Given the description of an element on the screen output the (x, y) to click on. 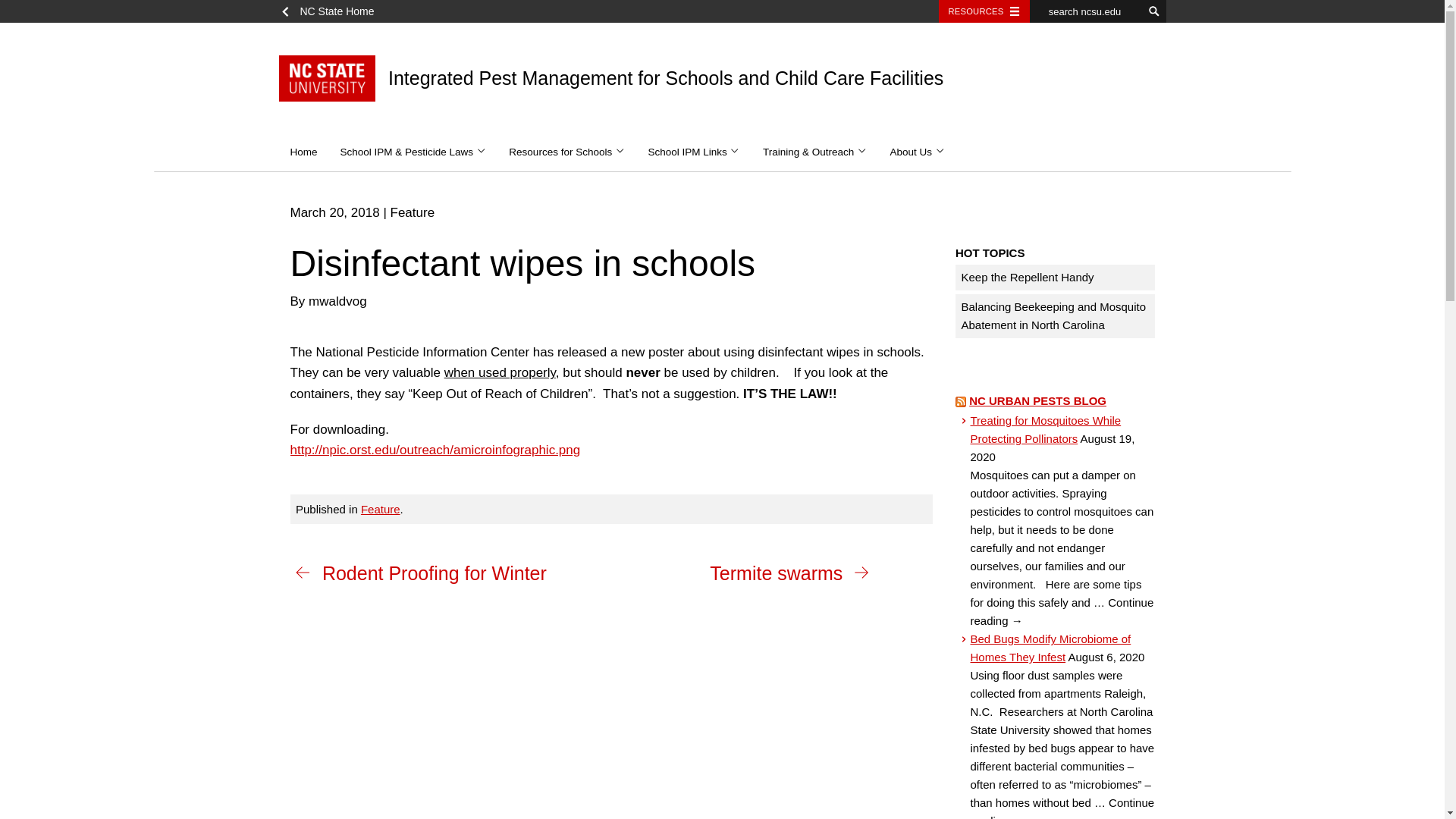
search (1154, 11)
Home (304, 152)
search (1154, 11)
RESOURCES (984, 11)
search (1154, 11)
NC State Home (332, 11)
